Given the description of an element on the screen output the (x, y) to click on. 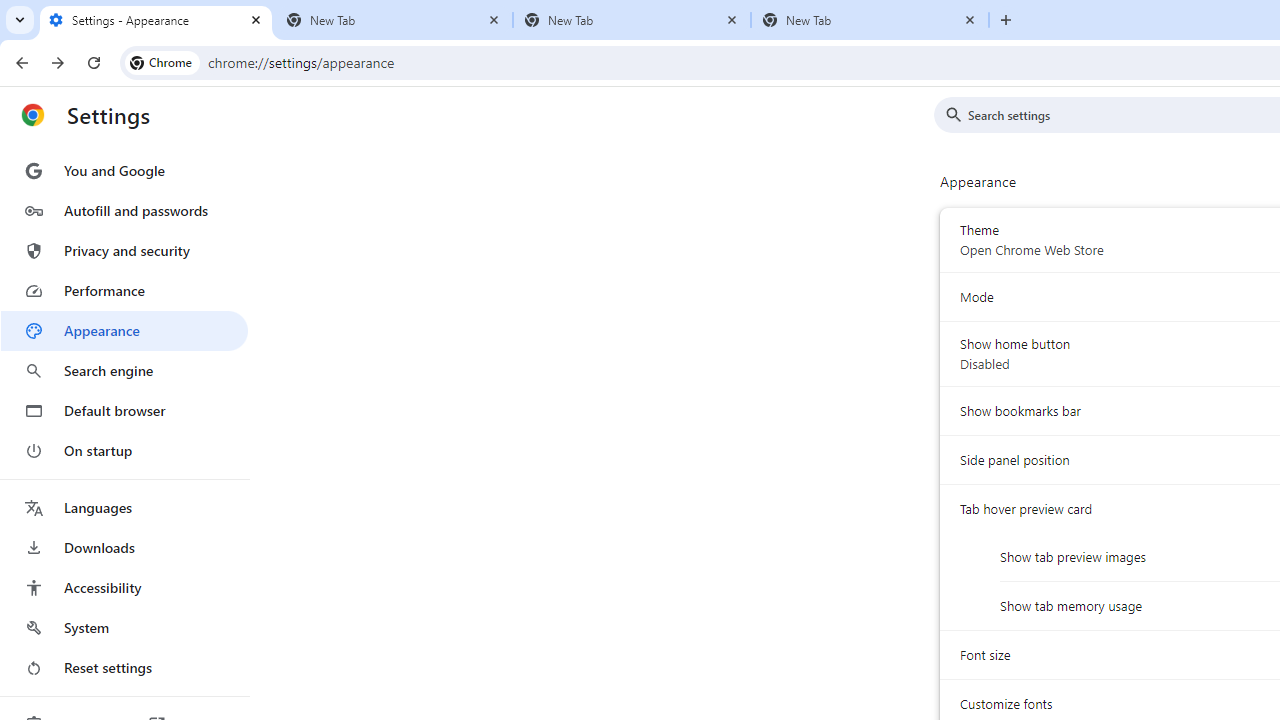
New Tab (870, 20)
Settings - Appearance (156, 20)
You and Google (124, 170)
Accessibility (124, 587)
Privacy and security (124, 250)
